Given the description of an element on the screen output the (x, y) to click on. 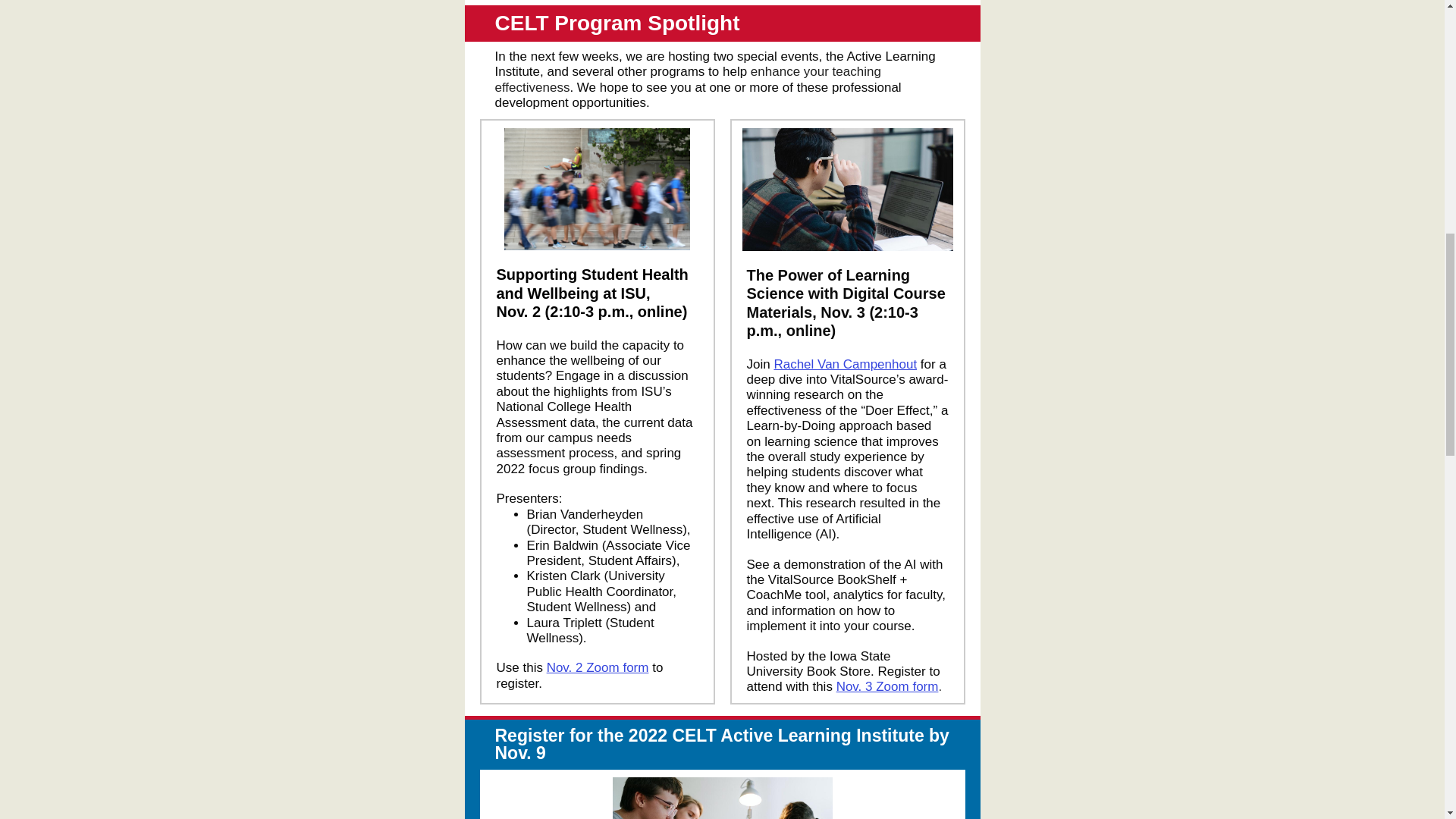
Nov. 3 Zoom form (887, 686)
Rachel Van Campenhout (845, 364)
Nov. 2 Zoom form (598, 667)
